Given the description of an element on the screen output the (x, y) to click on. 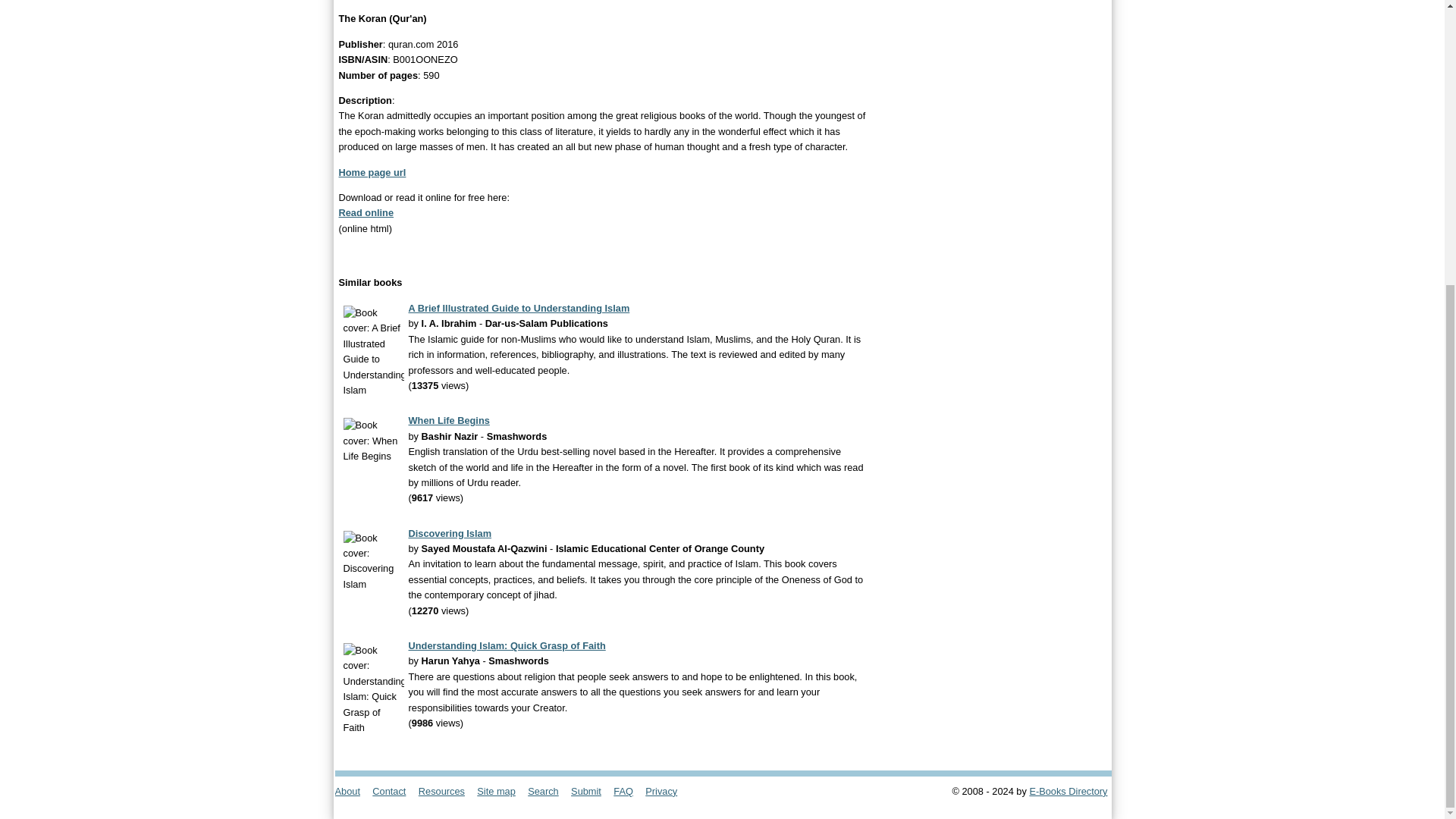
Submit (590, 790)
Contact (393, 790)
FAQ (627, 790)
About (351, 790)
Privacy (666, 790)
Site map (500, 790)
Read online (365, 212)
Resources (446, 790)
Discovering Islam (449, 532)
A Brief Illustrated Guide to Understanding Islam (517, 307)
